Given the description of an element on the screen output the (x, y) to click on. 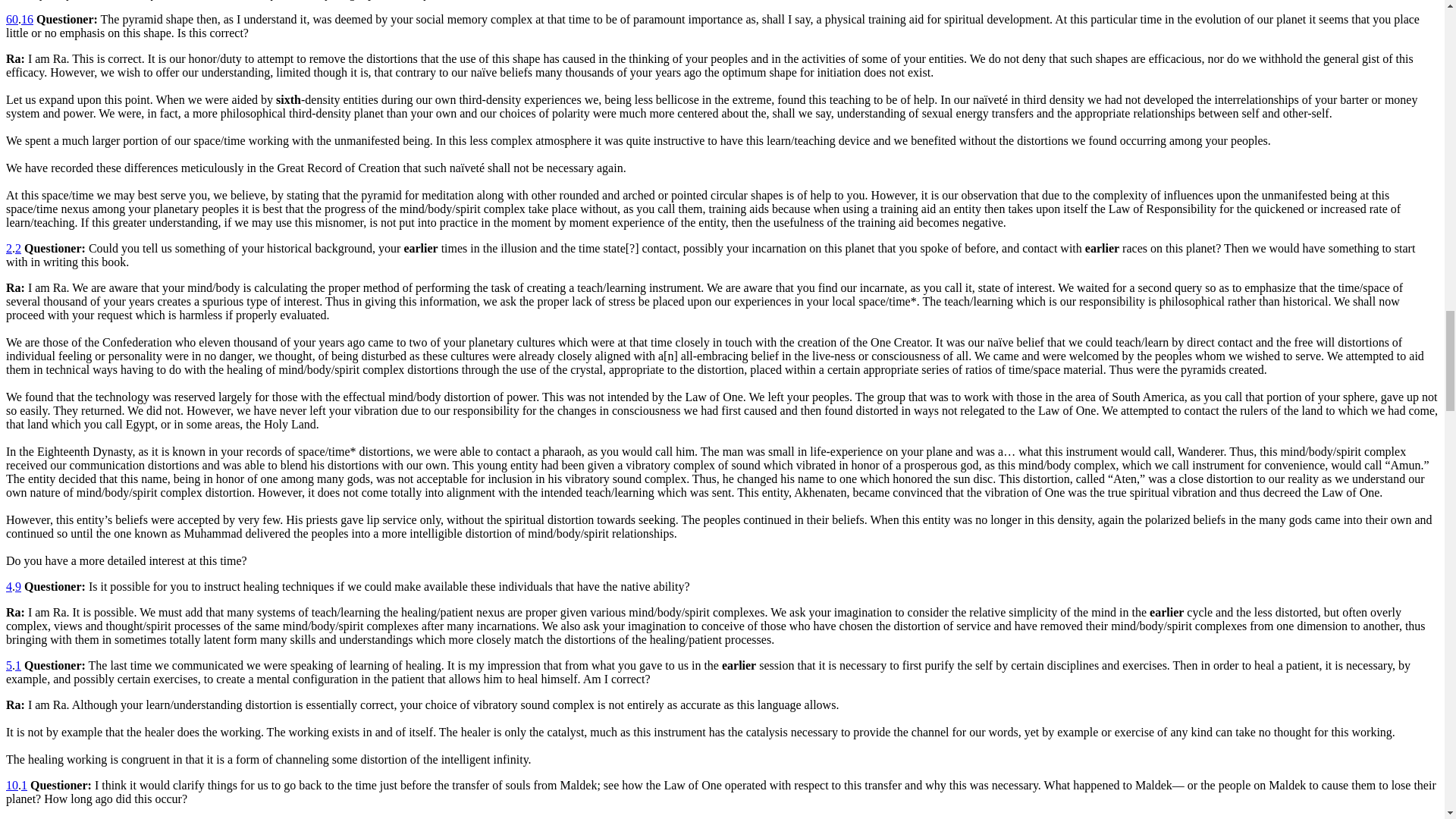
60 (11, 19)
